Given the description of an element on the screen output the (x, y) to click on. 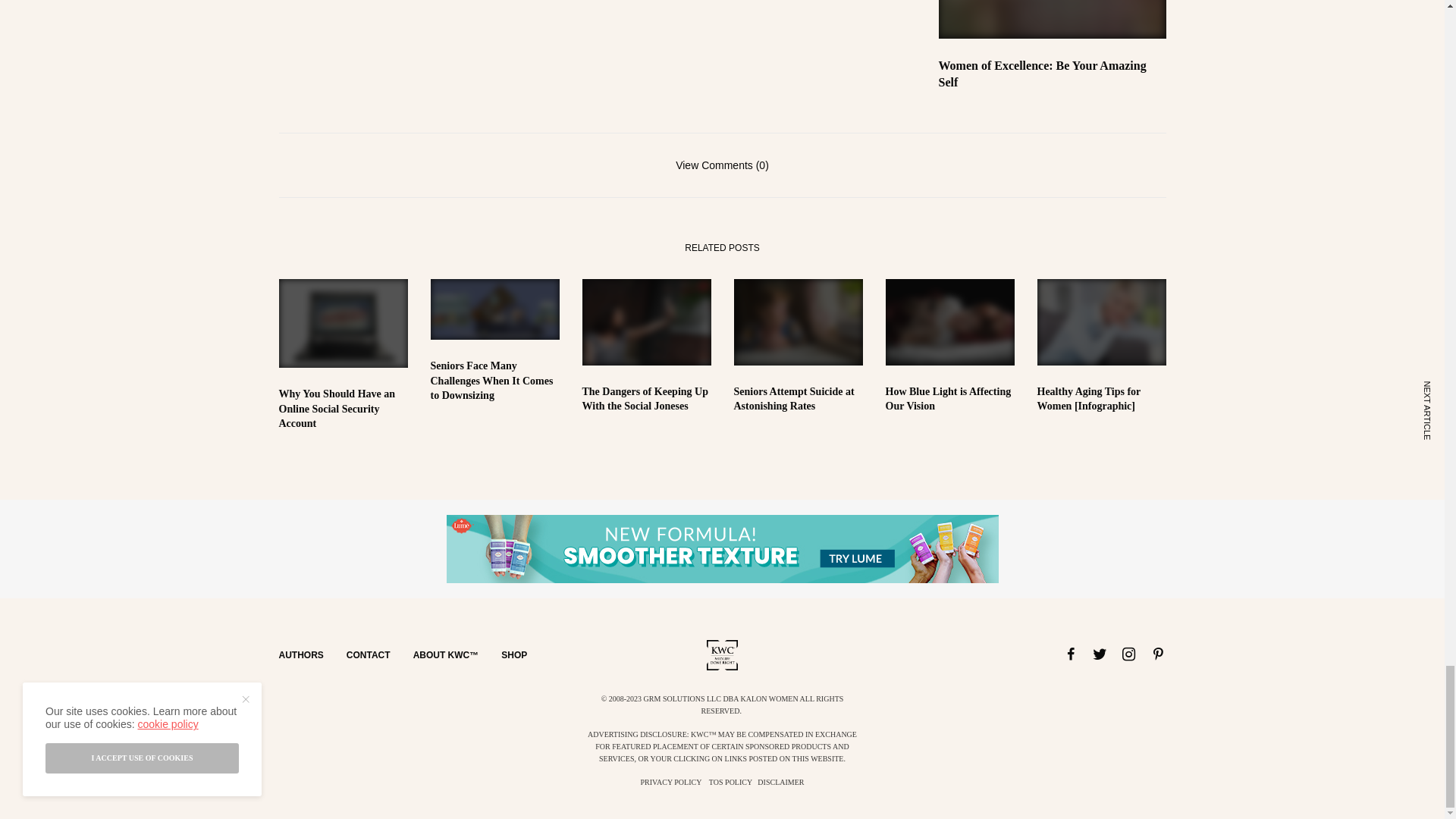
Why You Should Have an Online Social Security Account (343, 408)
Women of Excellence: Be Your Amazing Self (1052, 74)
